Given the description of an element on the screen output the (x, y) to click on. 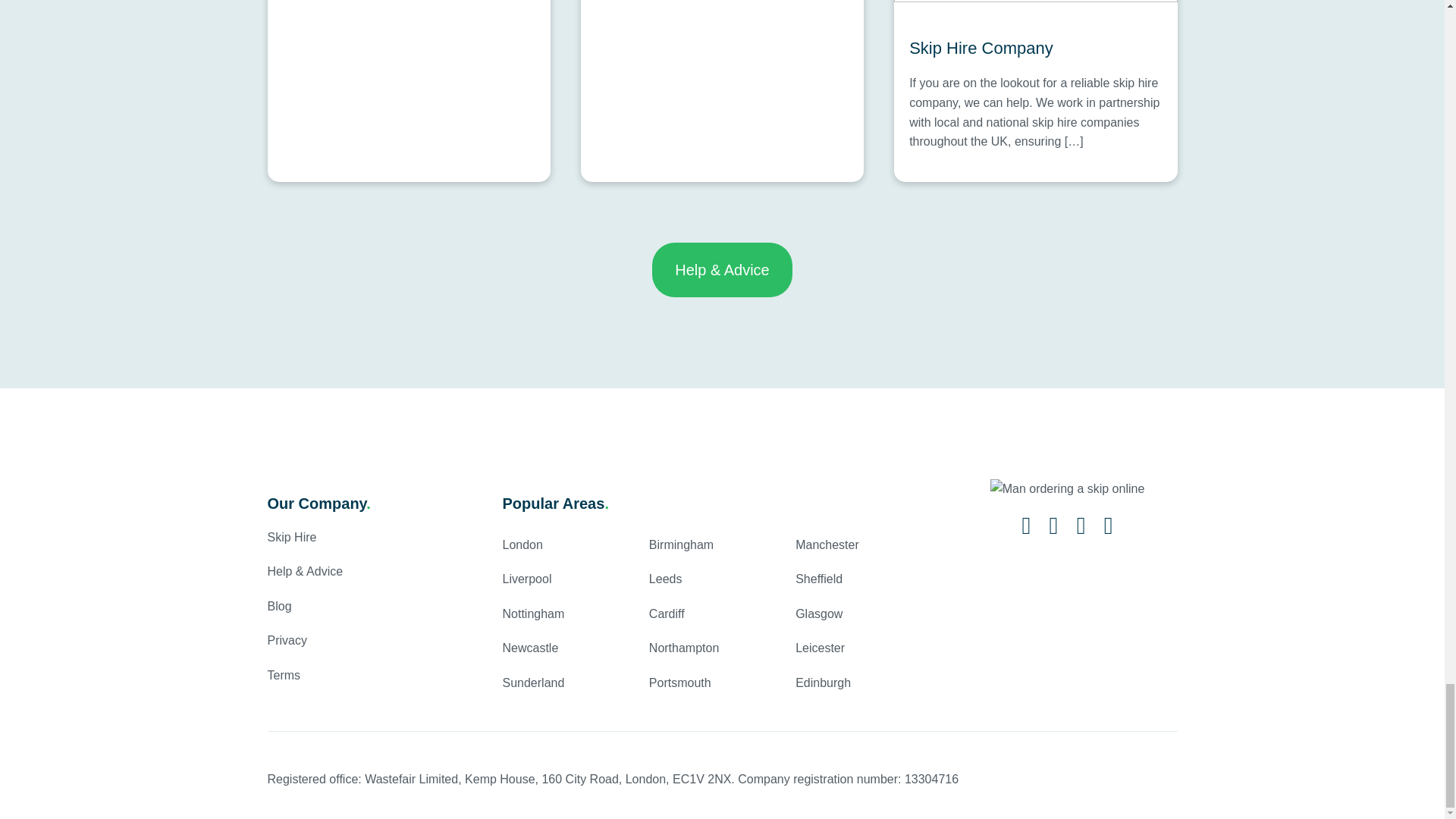
Privacy (285, 640)
Leeds (665, 578)
Blog (278, 605)
Manchester (826, 544)
London (521, 544)
Skip Hire Company (1034, 48)
Terms (282, 675)
Birmingham (681, 544)
Liverpool (526, 578)
Sheffield (818, 578)
